Given the description of an element on the screen output the (x, y) to click on. 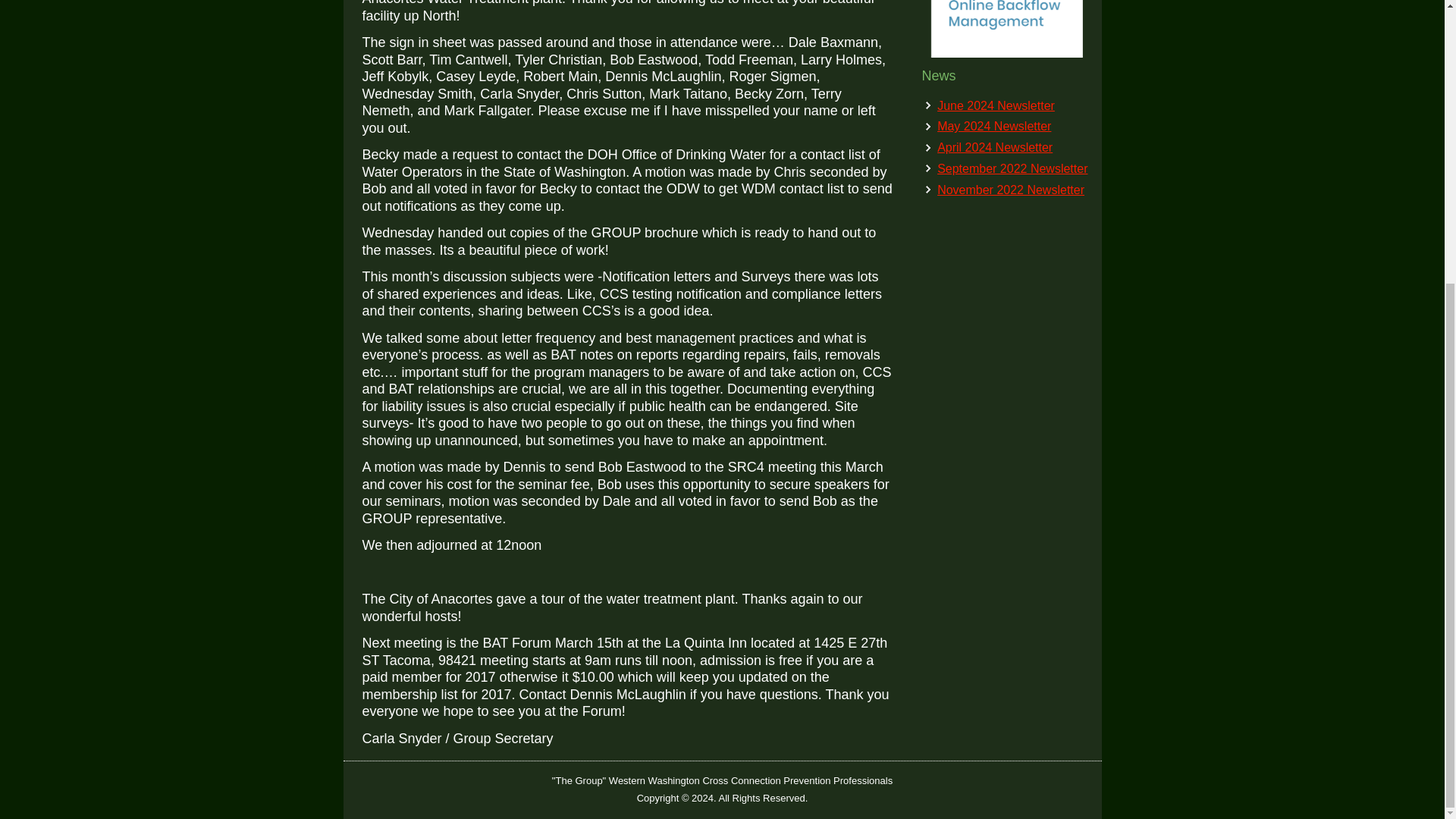
June 2024 Newsletter (995, 105)
April 2024 Newsletter (994, 146)
May 2024 Newsletter (994, 125)
